Given the description of an element on the screen output the (x, y) to click on. 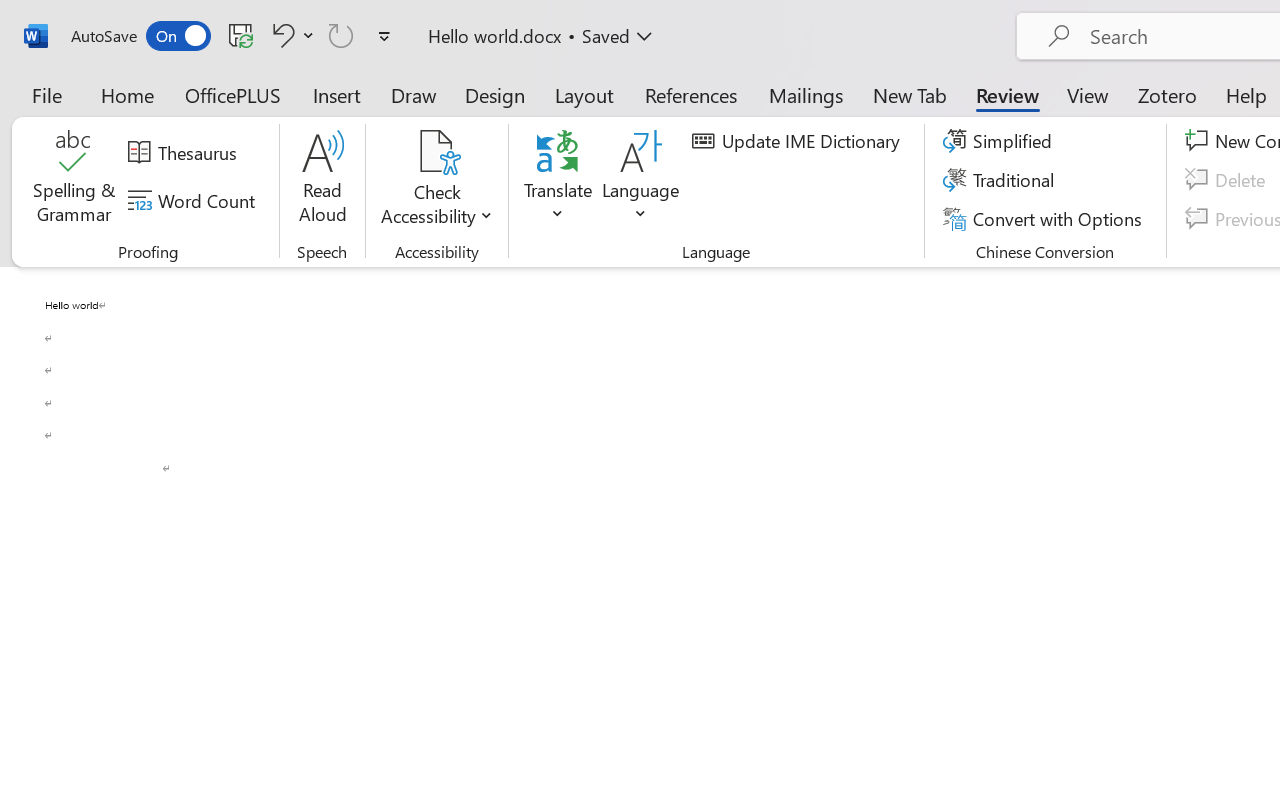
References (690, 94)
Layout (584, 94)
Review (1007, 94)
Design (495, 94)
Mailings (806, 94)
Simplified (1000, 141)
Quick Access Toolbar (233, 36)
New Tab (909, 94)
Update IME Dictionary... (799, 141)
File Tab (46, 94)
Insert (337, 94)
Spelling & Grammar (74, 180)
OfficePLUS (233, 94)
